Given the description of an element on the screen output the (x, y) to click on. 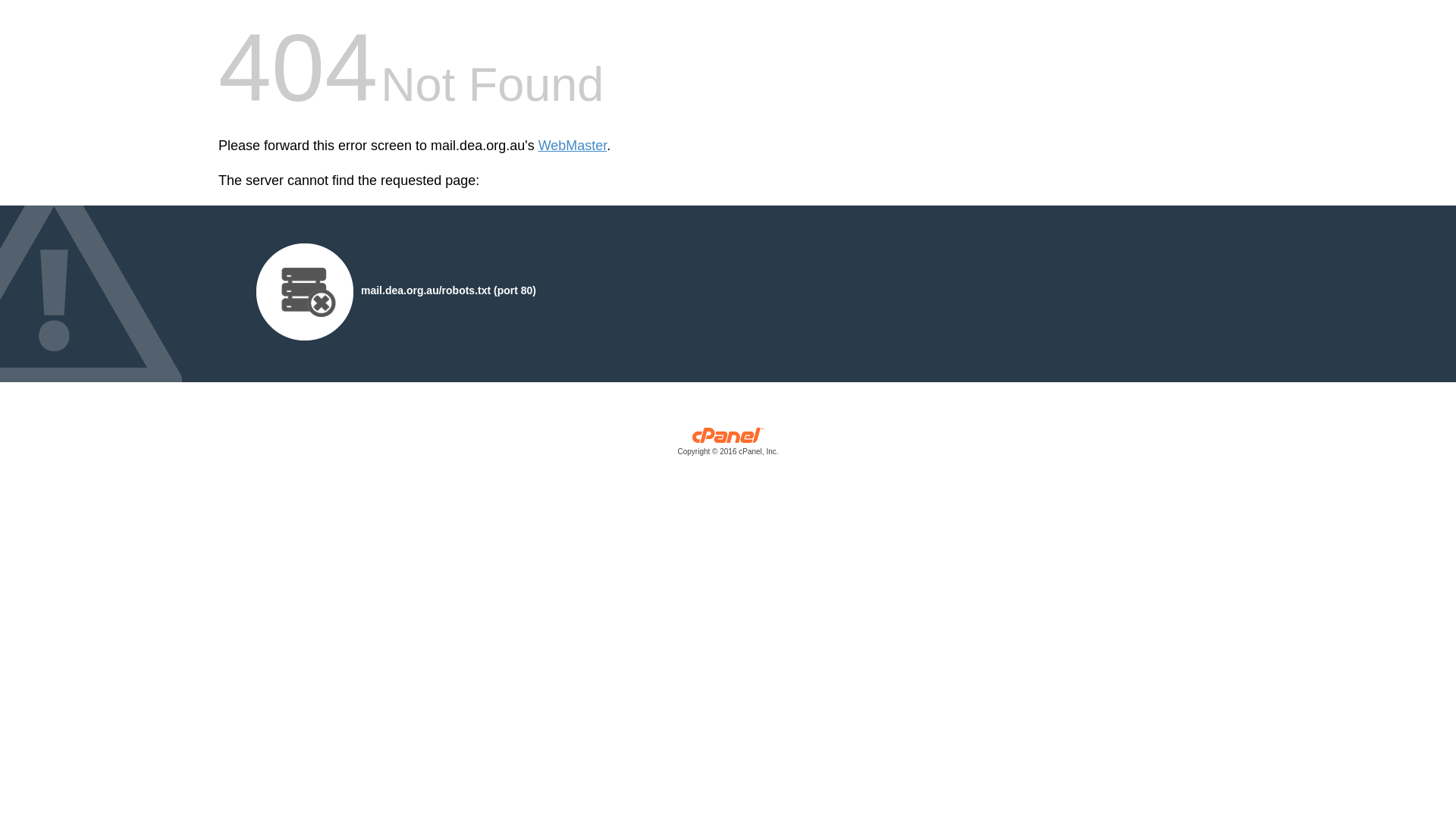
WebMaster Element type: text (572, 145)
